Given the description of an element on the screen output the (x, y) to click on. 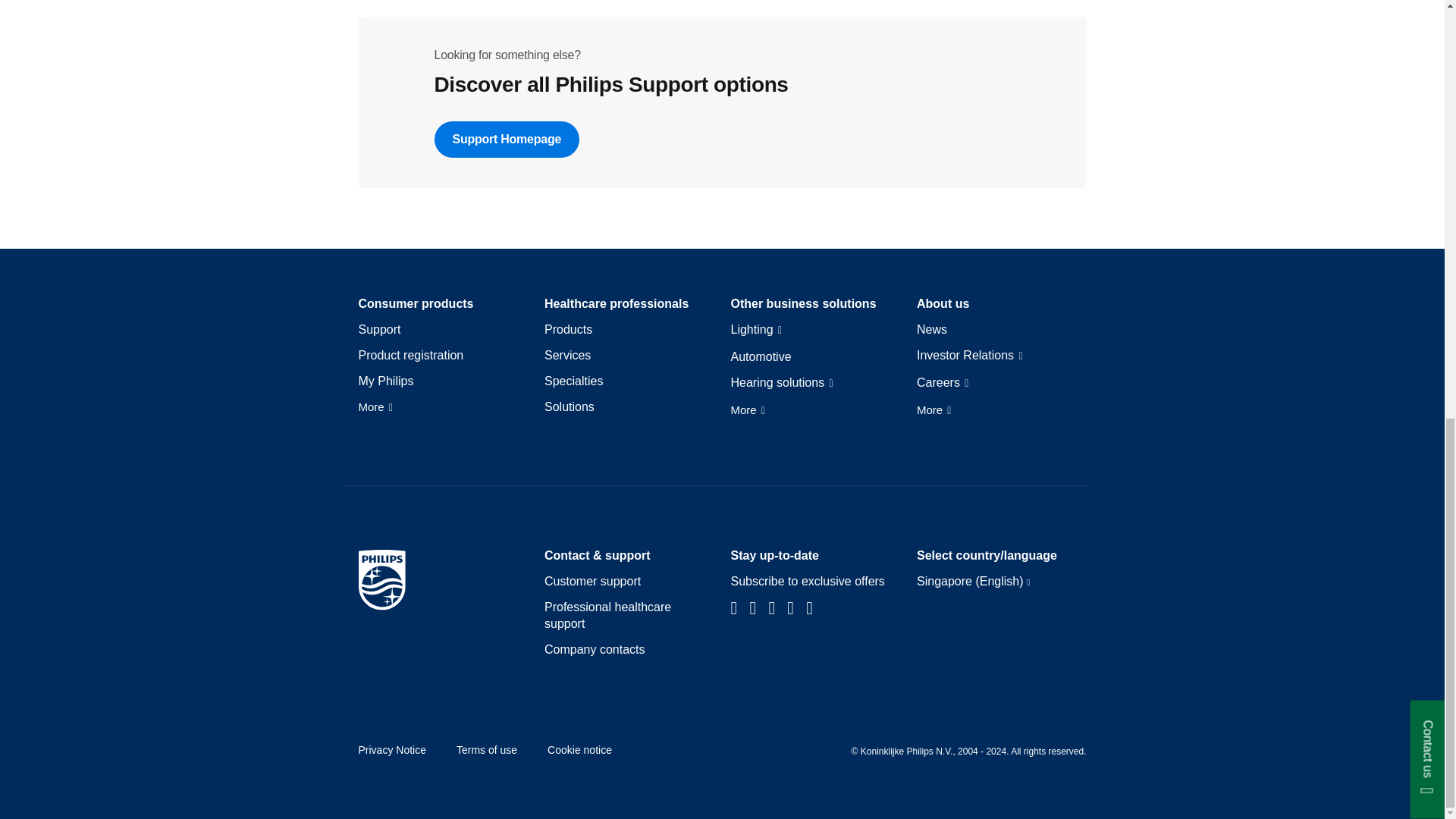
Support (379, 329)
Services (567, 355)
Products (568, 329)
Solutions (569, 406)
About us (943, 303)
Consumer products (415, 303)
Specialties (573, 381)
Product registration (410, 355)
Automotive (761, 356)
My Philips (385, 381)
Healthcare professionals (616, 303)
